Given the description of an element on the screen output the (x, y) to click on. 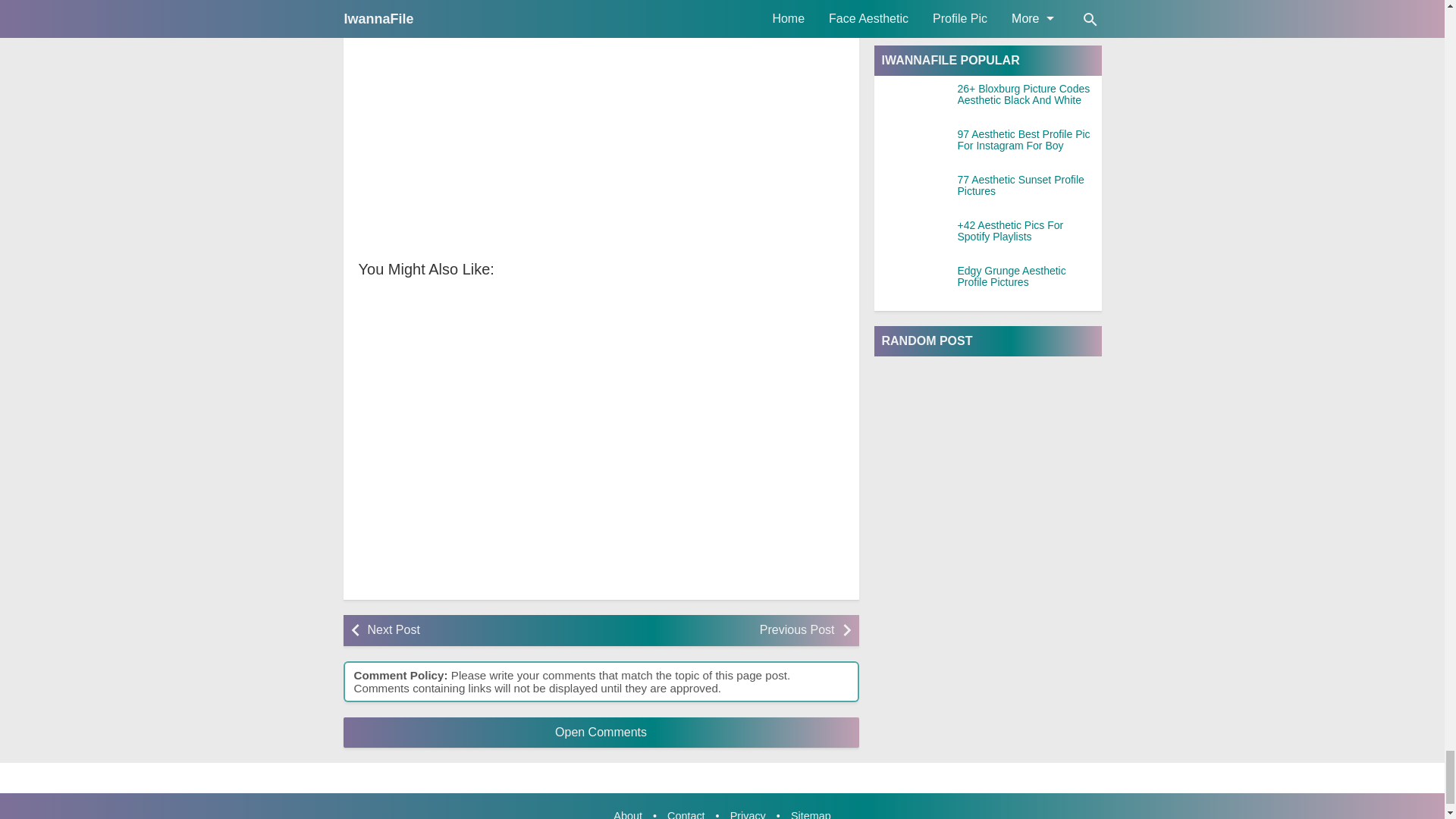
Newer Post (479, 630)
Next Post (479, 630)
Previous Post (721, 630)
